Given the description of an element on the screen output the (x, y) to click on. 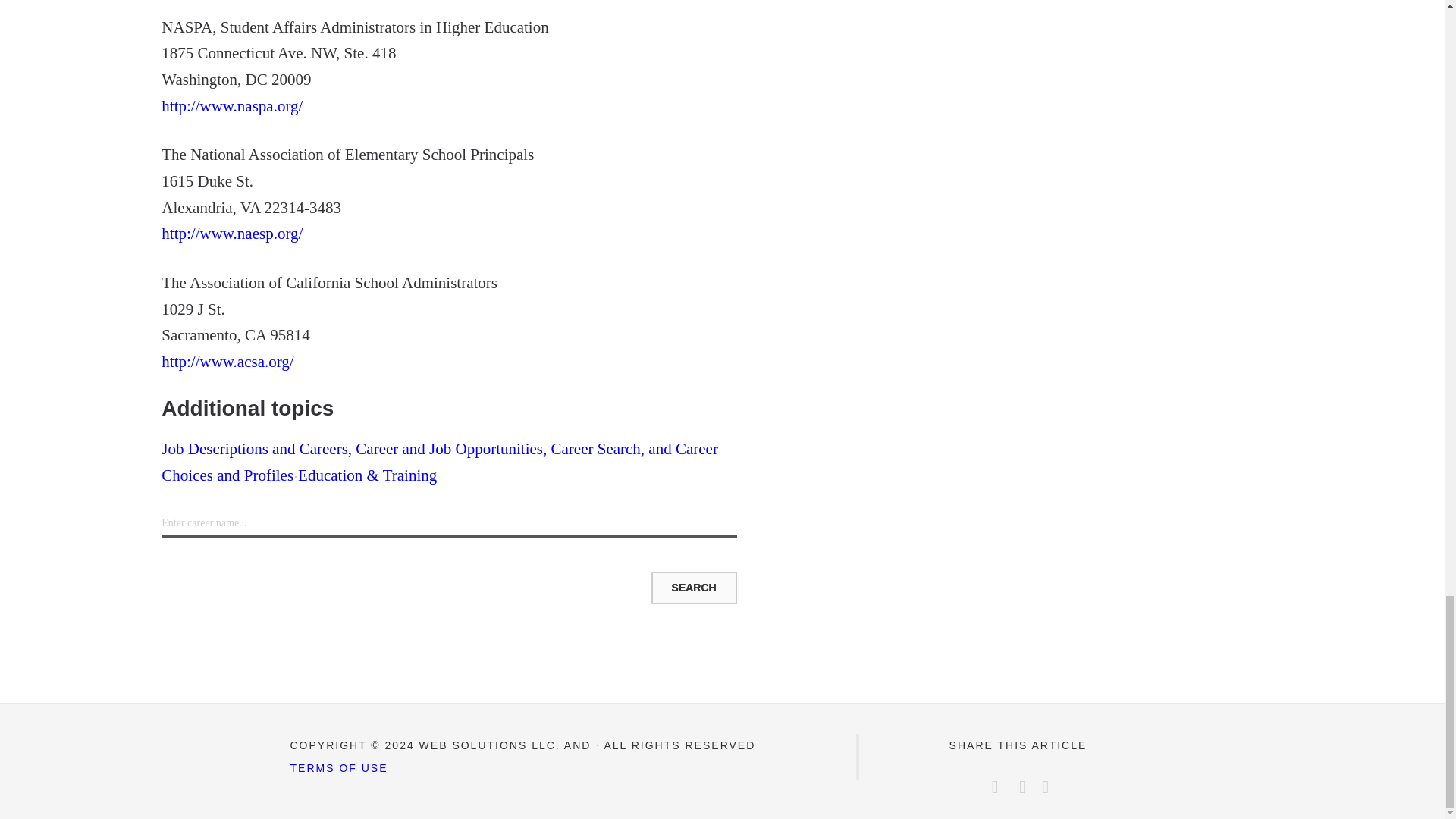
TERMS OF USE (338, 767)
Search (693, 587)
Search (693, 587)
